Given the description of an element on the screen output the (x, y) to click on. 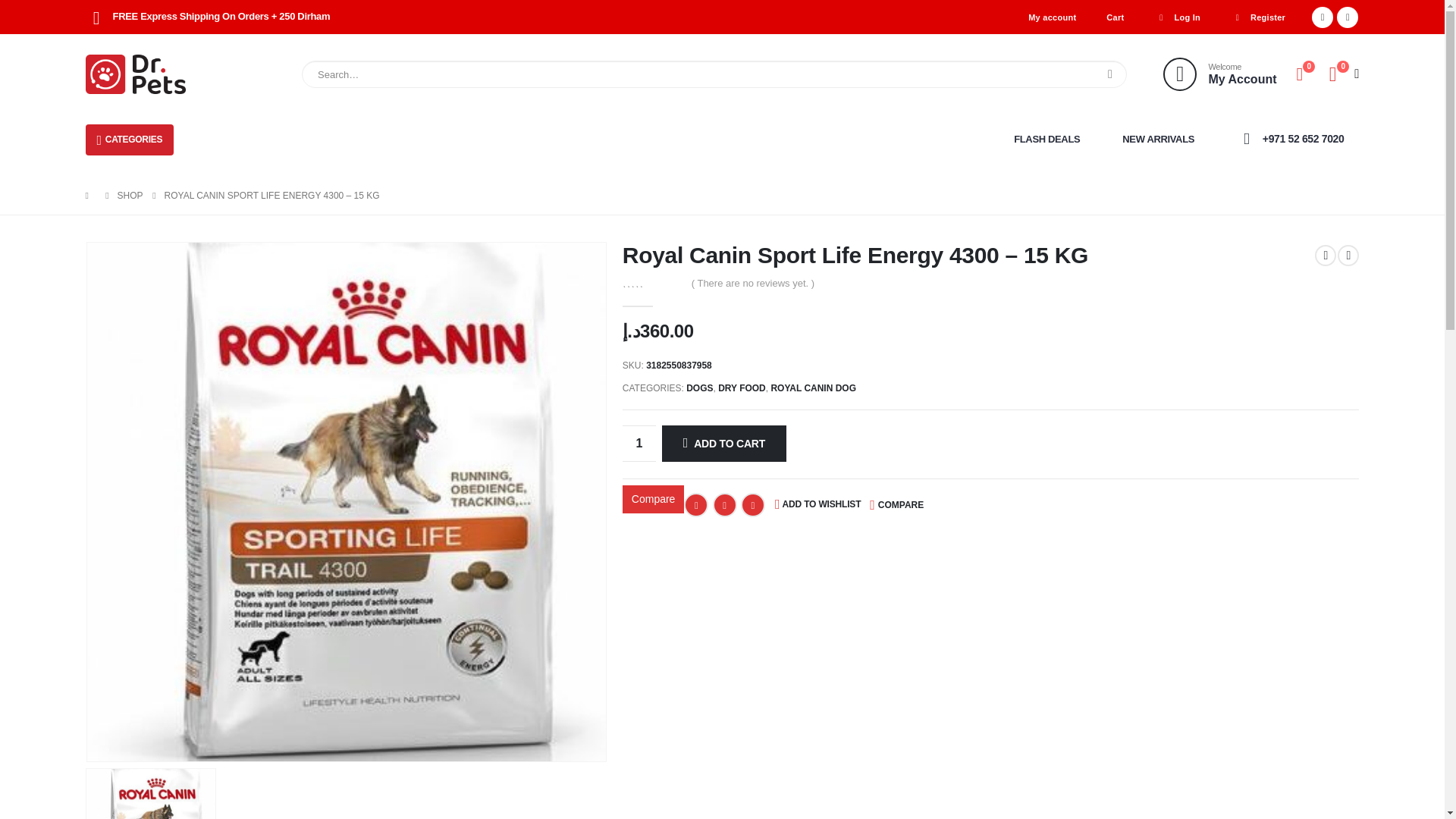
Email (753, 504)
DOGS (699, 388)
Compare (653, 499)
Search (1110, 73)
ADD TO WISHLIST (817, 504)
My Account (1219, 73)
My account (1051, 16)
FLASH DEALS (1046, 139)
ADD TO CART (724, 443)
0 (652, 282)
